Given the description of an element on the screen output the (x, y) to click on. 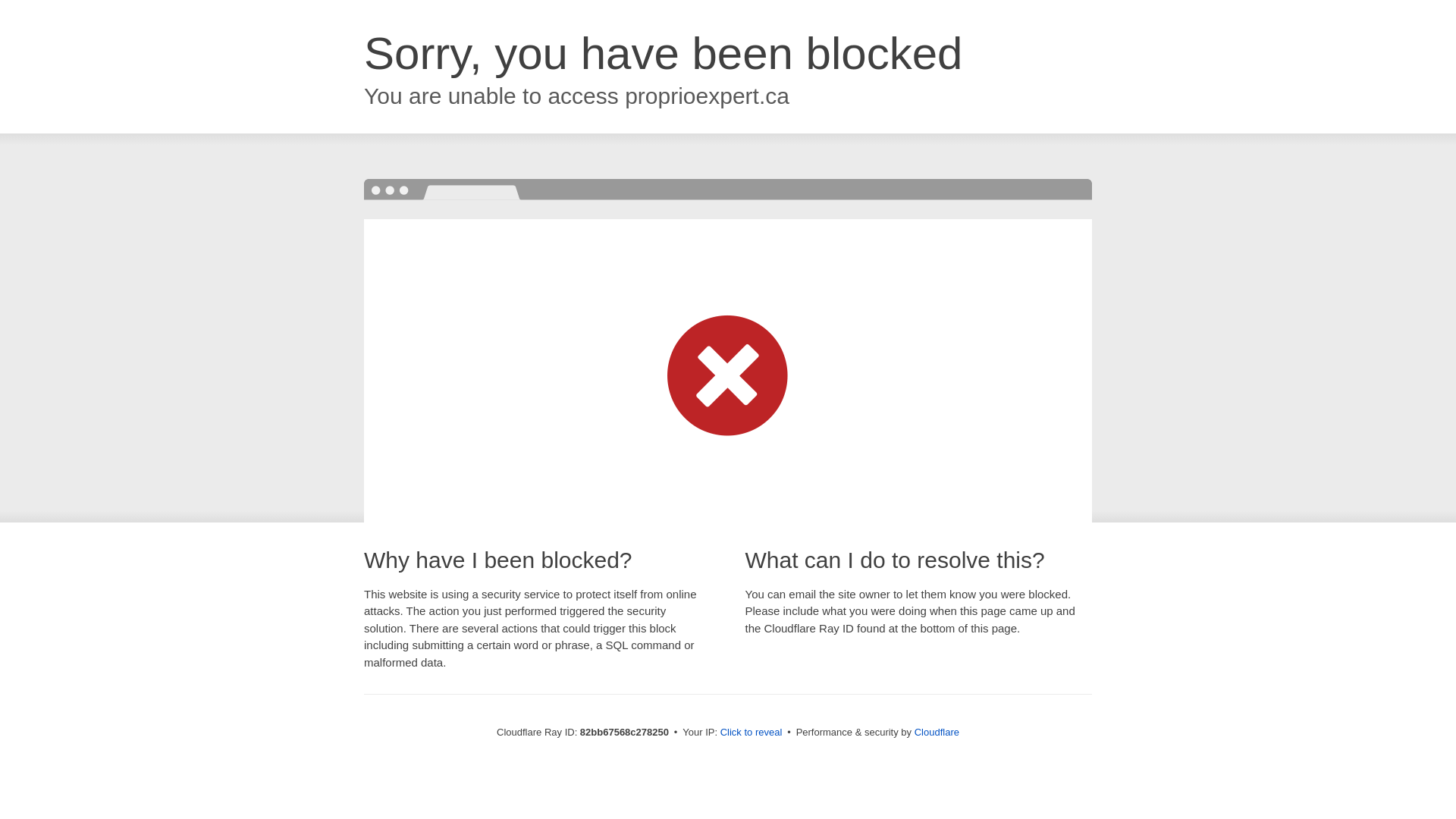
Cloudflare Element type: text (936, 731)
Click to reveal Element type: text (751, 732)
